Given the description of an element on the screen output the (x, y) to click on. 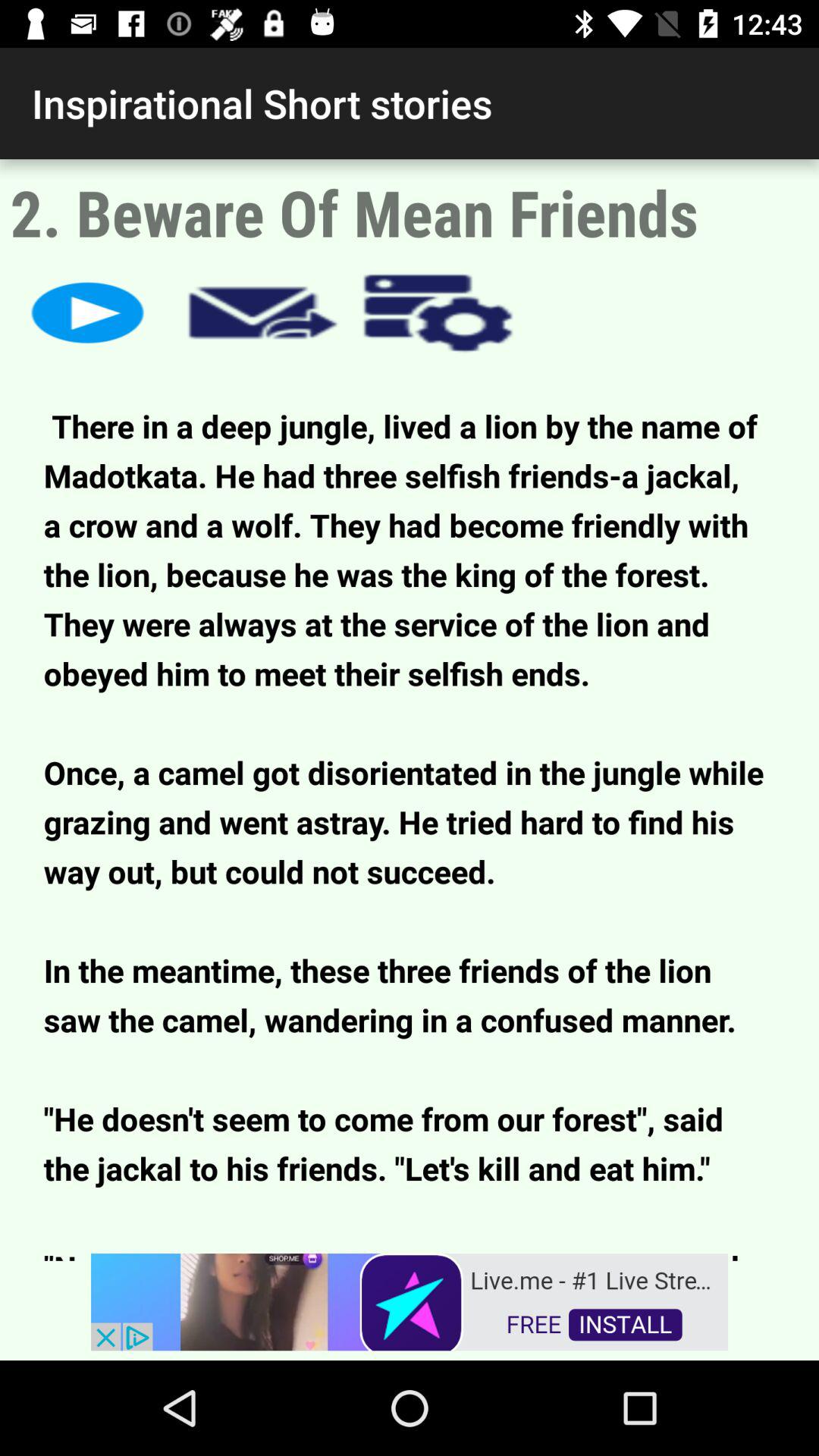
play (87, 312)
